Given the description of an element on the screen output the (x, y) to click on. 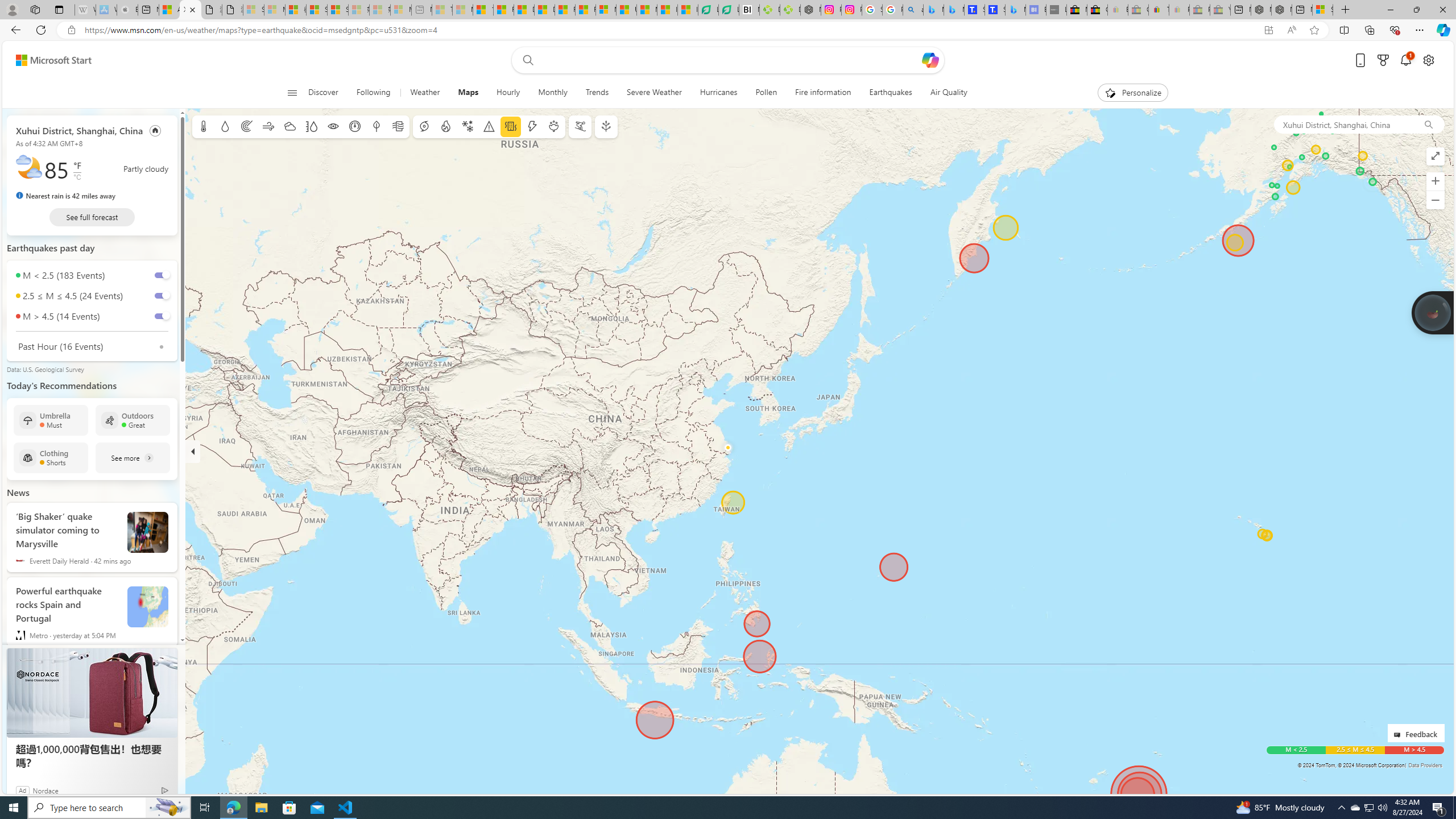
Winter weather (467, 126)
Weather (424, 92)
Press Room - eBay Inc. - Sleeping (1199, 9)
Marine life - MSN - Sleeping (461, 9)
Monthly (552, 92)
Zoom out (1435, 199)
Wind (267, 126)
Earthquakes (890, 92)
Lightning (532, 126)
Enter your search term (730, 59)
